Given the description of an element on the screen output the (x, y) to click on. 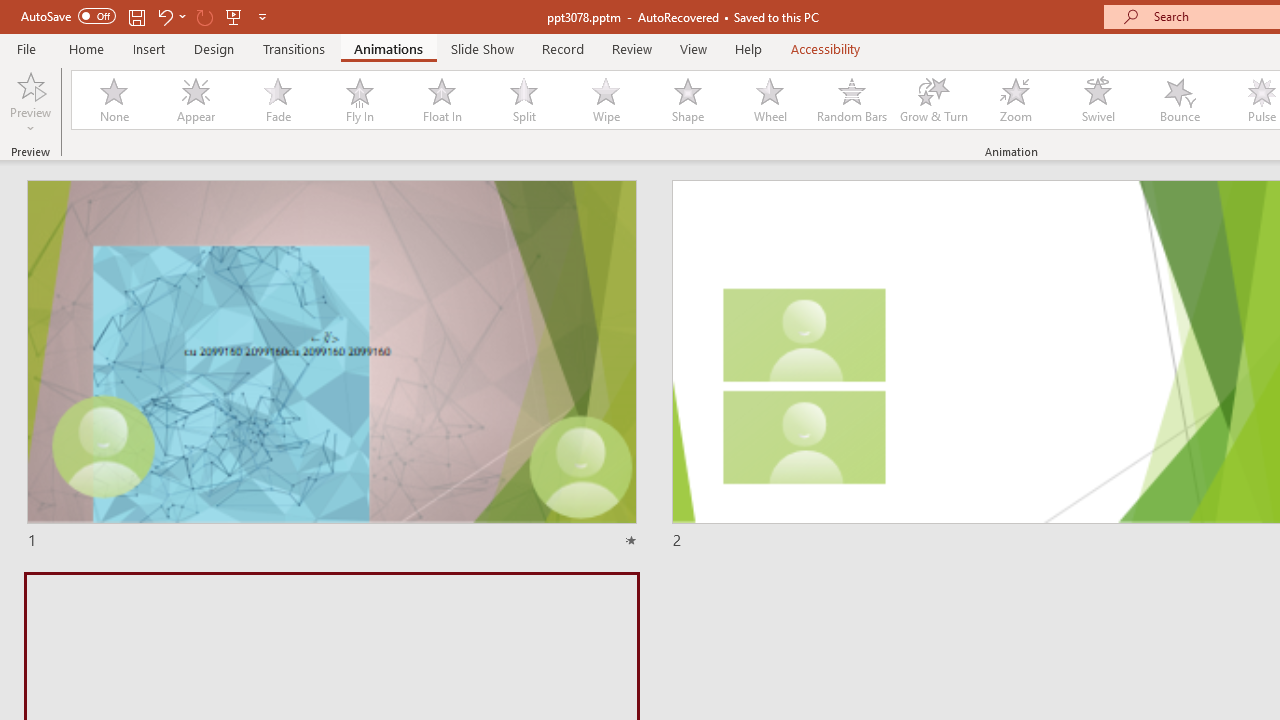
Swivel (1098, 100)
Appear (195, 100)
